Given the description of an element on the screen output the (x, y) to click on. 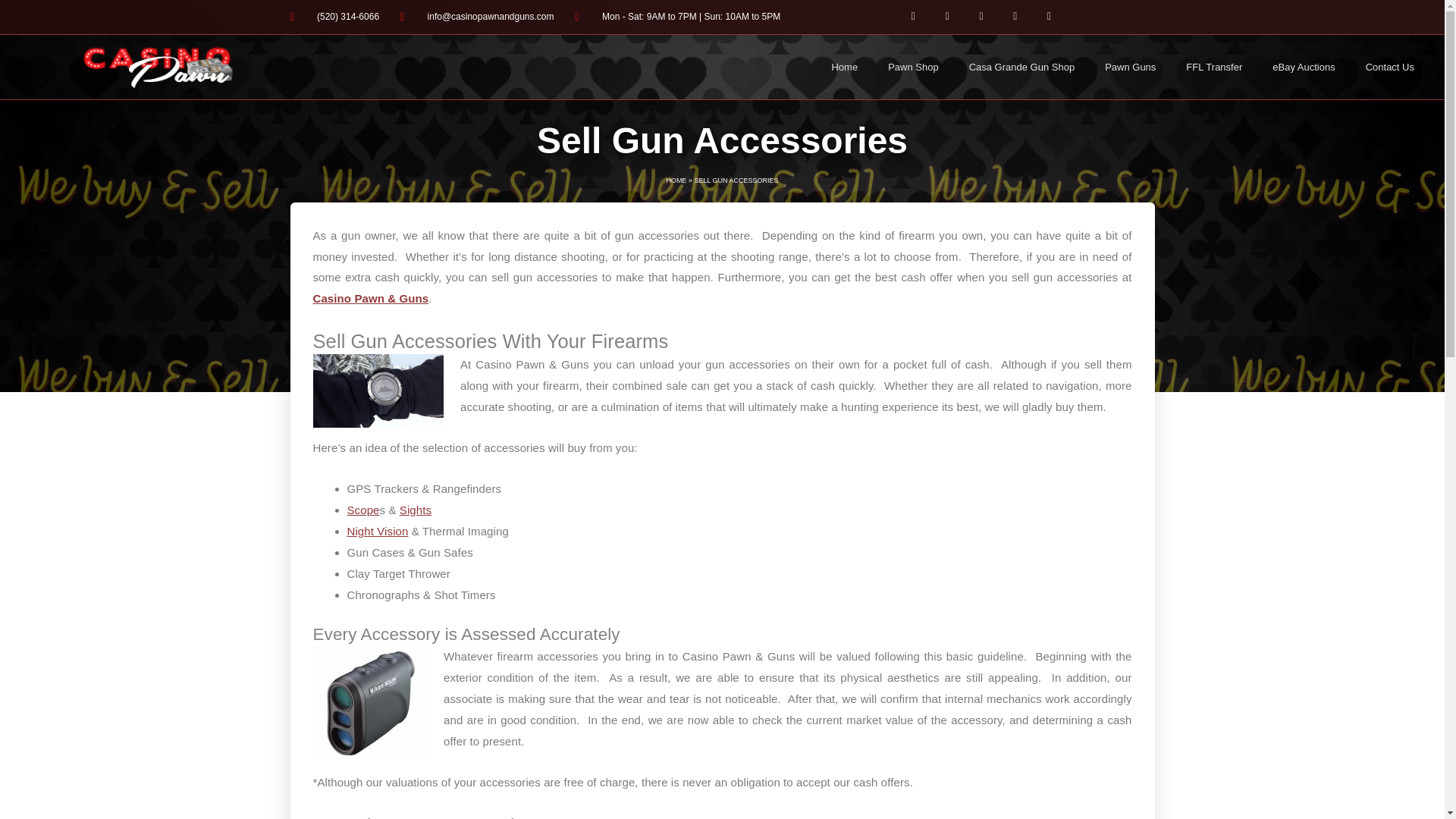
Facebook-f (913, 17)
Yelp (1014, 17)
Google (980, 17)
Contact Us (1390, 67)
Sell Gun Accessories - Casino Pawn and Guns (369, 703)
Home (843, 67)
Twitter (946, 17)
FFL Transfer (1213, 67)
Foursquare (1048, 17)
eBay Auctions (1303, 67)
Casa Grande Gun Shop (1021, 67)
Pawn Guns (1129, 67)
Pawn Shop (912, 67)
